Given the description of an element on the screen output the (x, y) to click on. 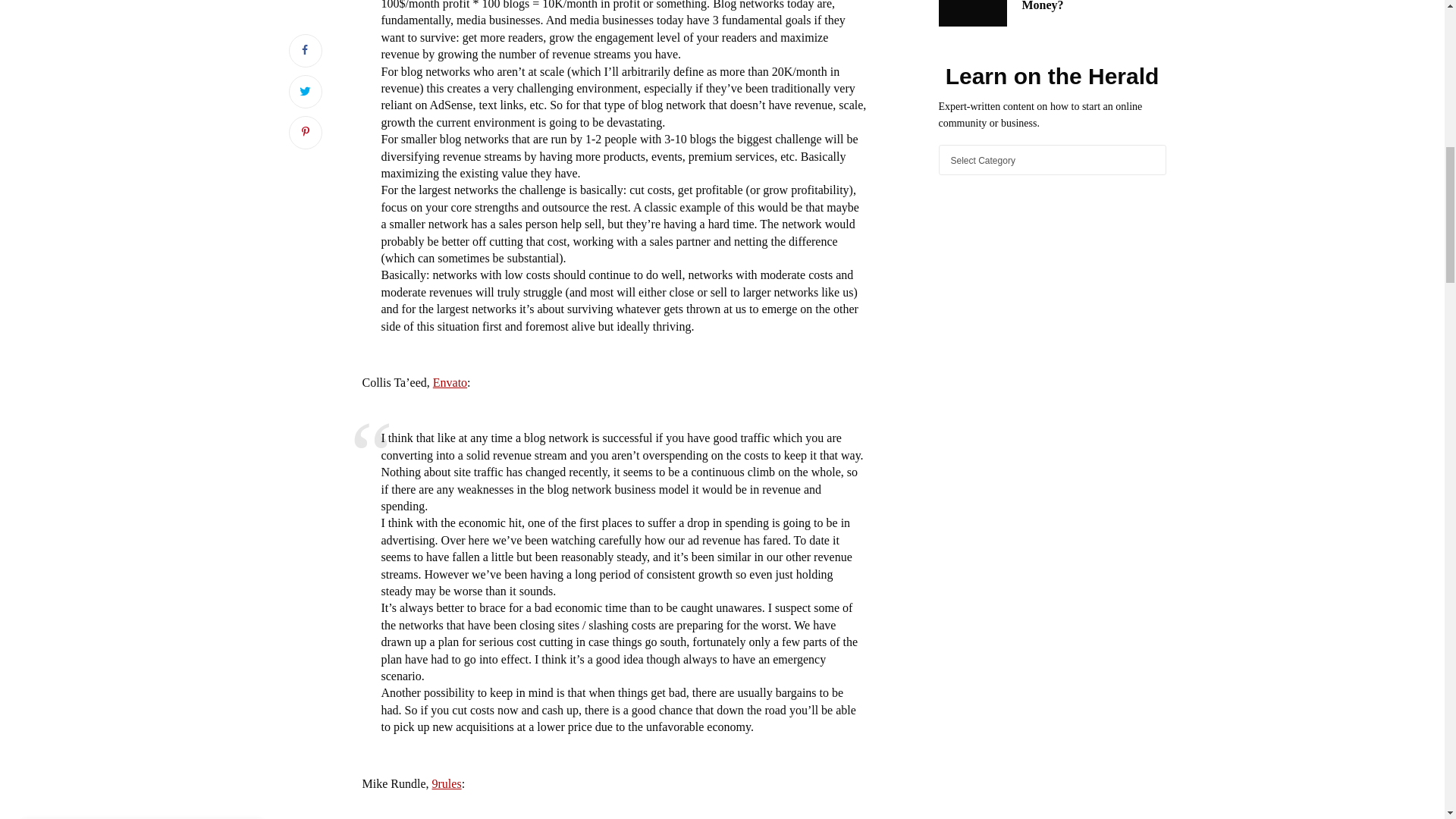
9rules (446, 783)
Blogging vs Vlogging: Which Makes More Money? (1094, 6)
Envato (449, 382)
